Given the description of an element on the screen output the (x, y) to click on. 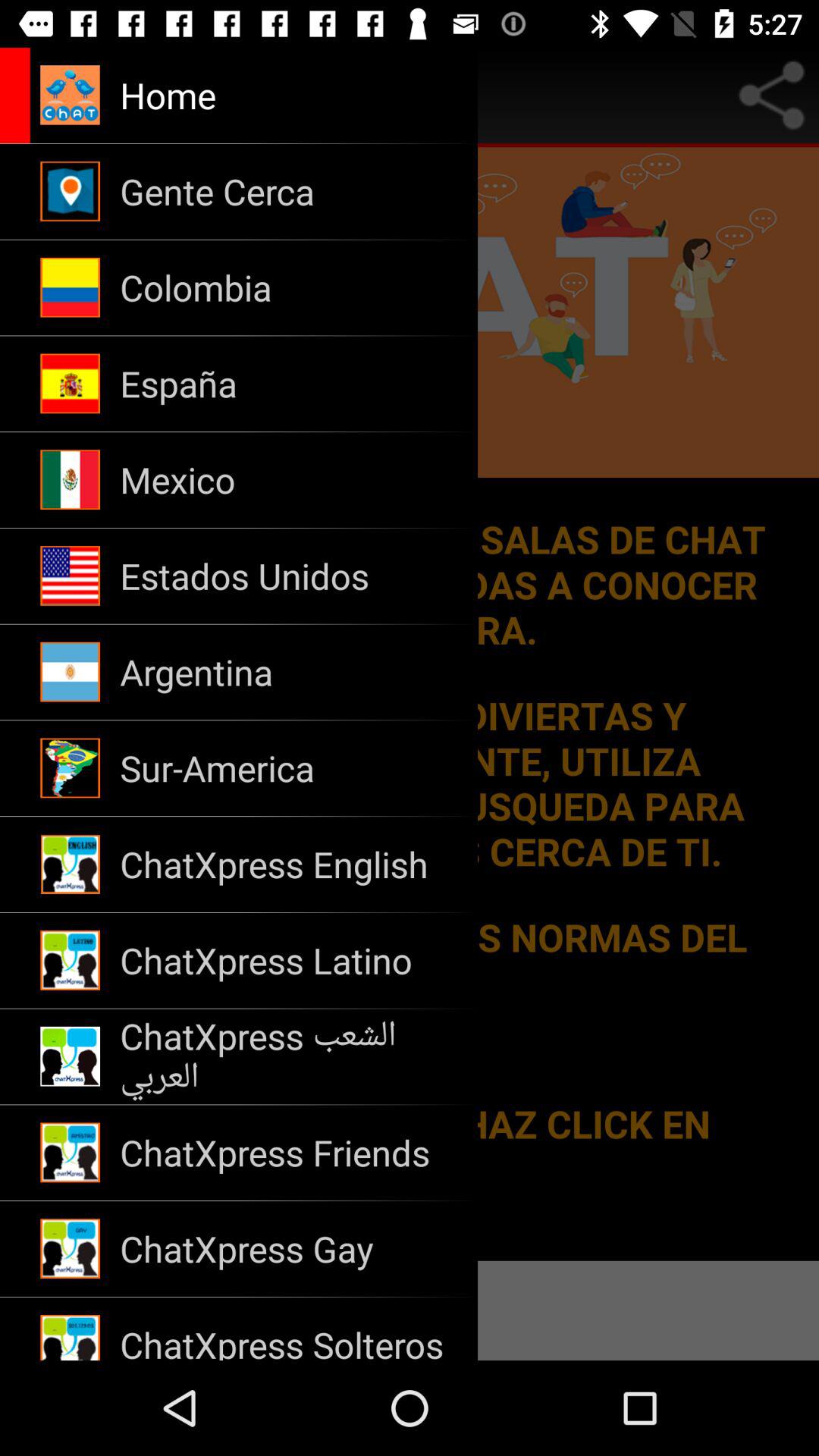
select app below the gente cerca icon (288, 287)
